Given the description of an element on the screen output the (x, y) to click on. 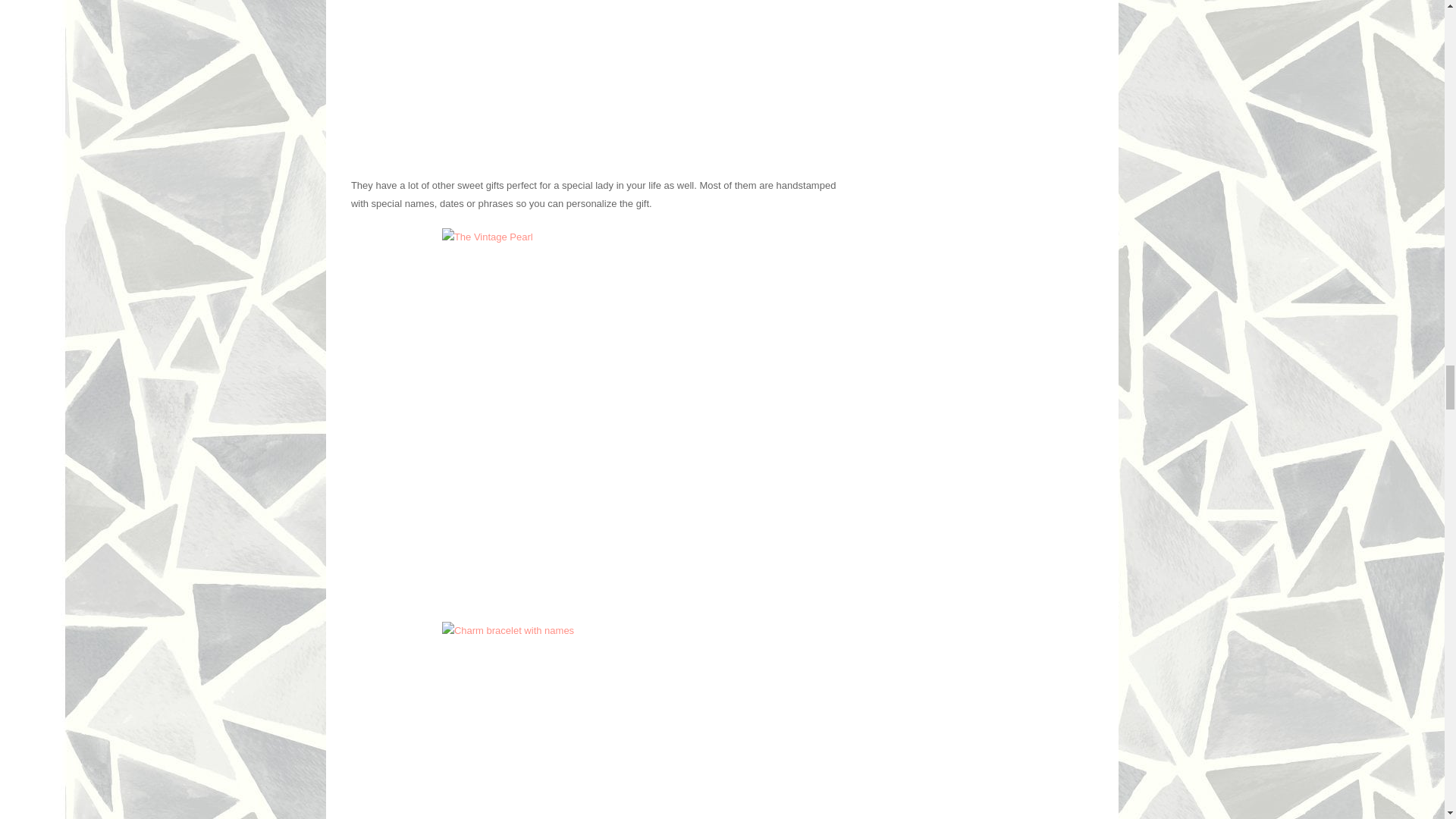
Mother of Pearl Earrings (593, 81)
Charm bracelet with names (593, 720)
